Given the description of an element on the screen output the (x, y) to click on. 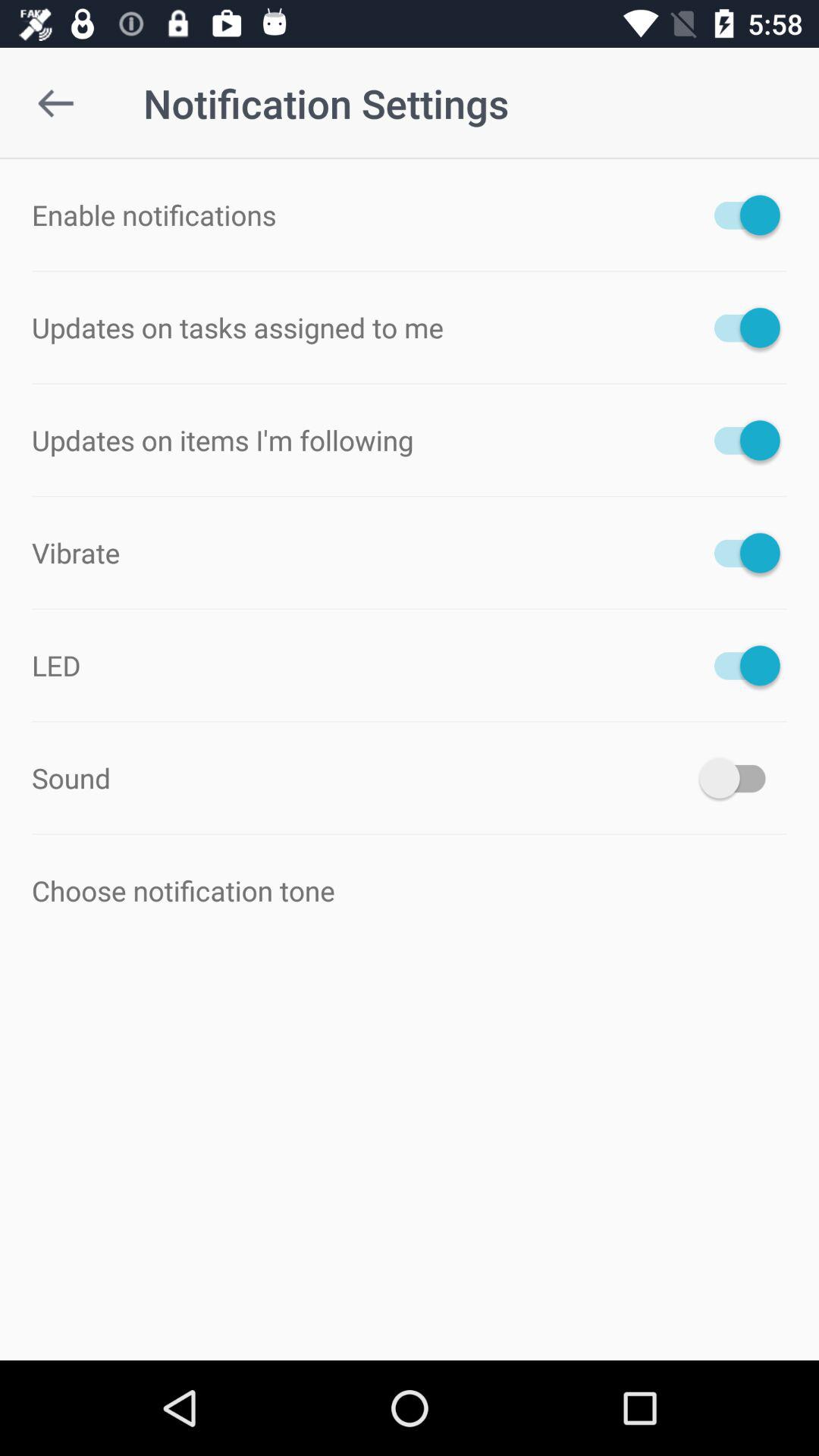
choose item next to the notification settings (55, 103)
